Given the description of an element on the screen output the (x, y) to click on. 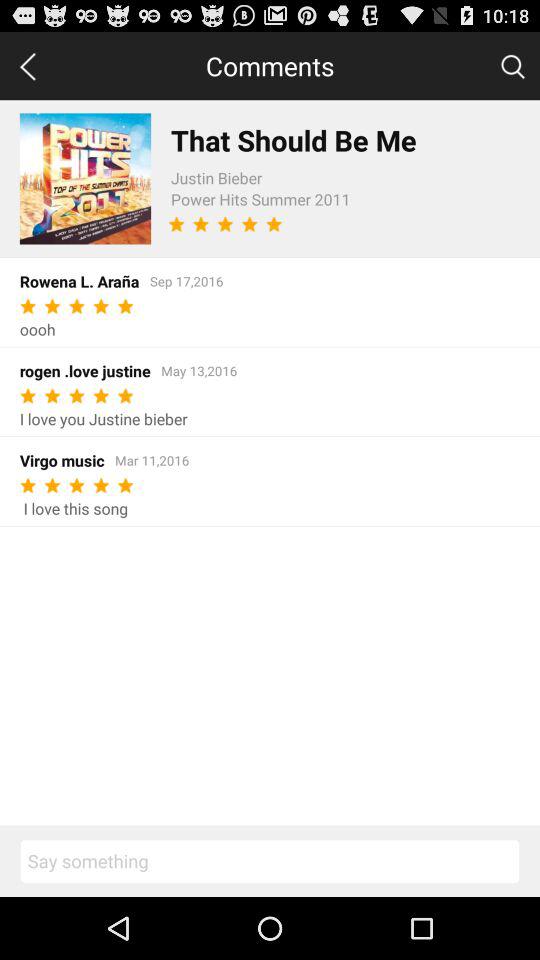
comment on this song (269, 861)
